Given the description of an element on the screen output the (x, y) to click on. 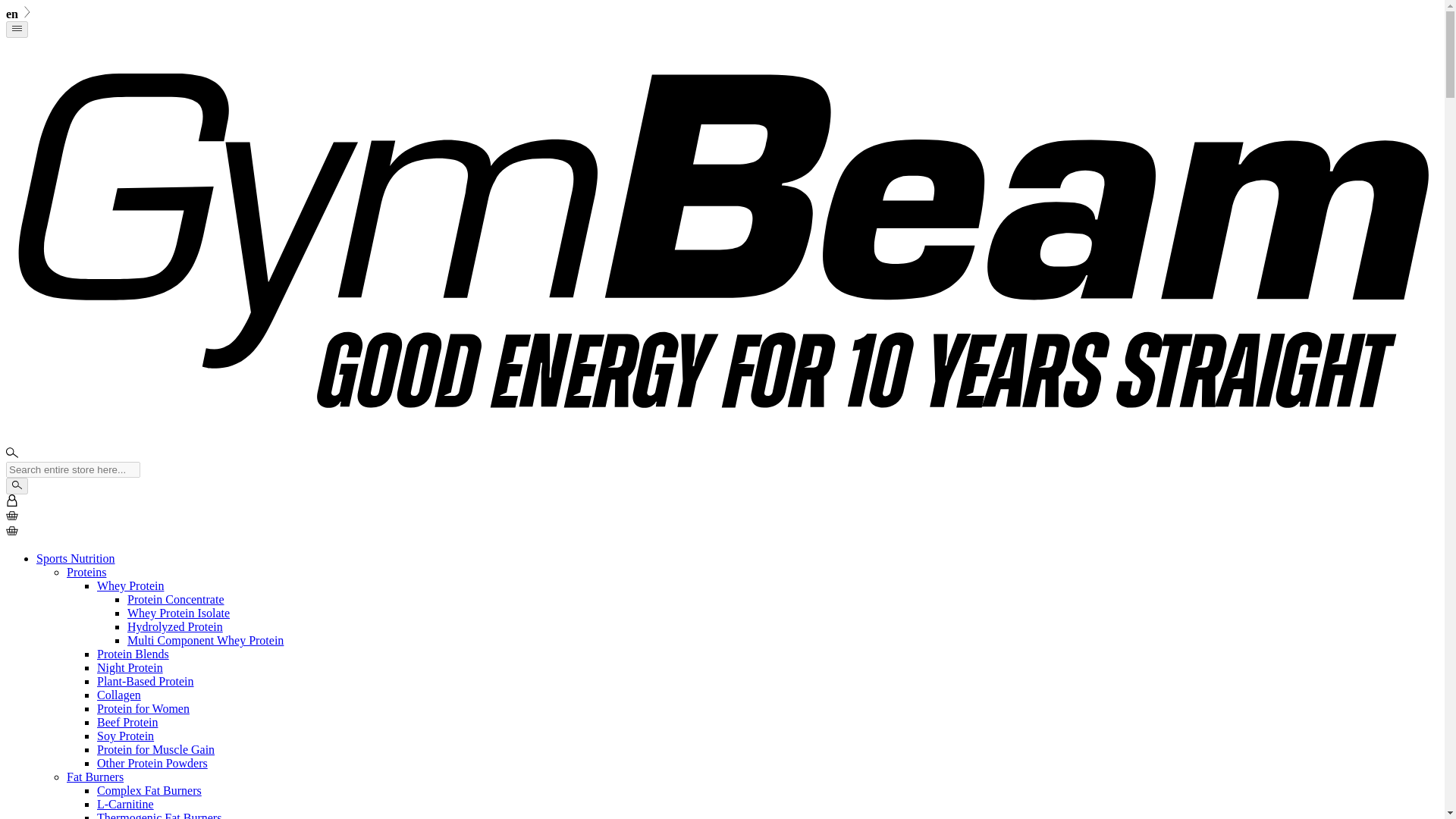
Whey Protein (130, 585)
Other Protein Powders (152, 762)
Hydrolyzed Protein (175, 626)
Fat Burners (94, 776)
Proteins (86, 571)
Collagen (119, 694)
Night Protein (130, 667)
Sports Nutrition (75, 558)
Protein Blends (132, 653)
L-Carnitine (125, 803)
Thermogenic Fat Burners (159, 815)
Plant-Based Protein (145, 680)
Protein for Women (143, 707)
Multi Component Whey Protein (205, 640)
Complex Fat Burners (149, 789)
